Given the description of an element on the screen output the (x, y) to click on. 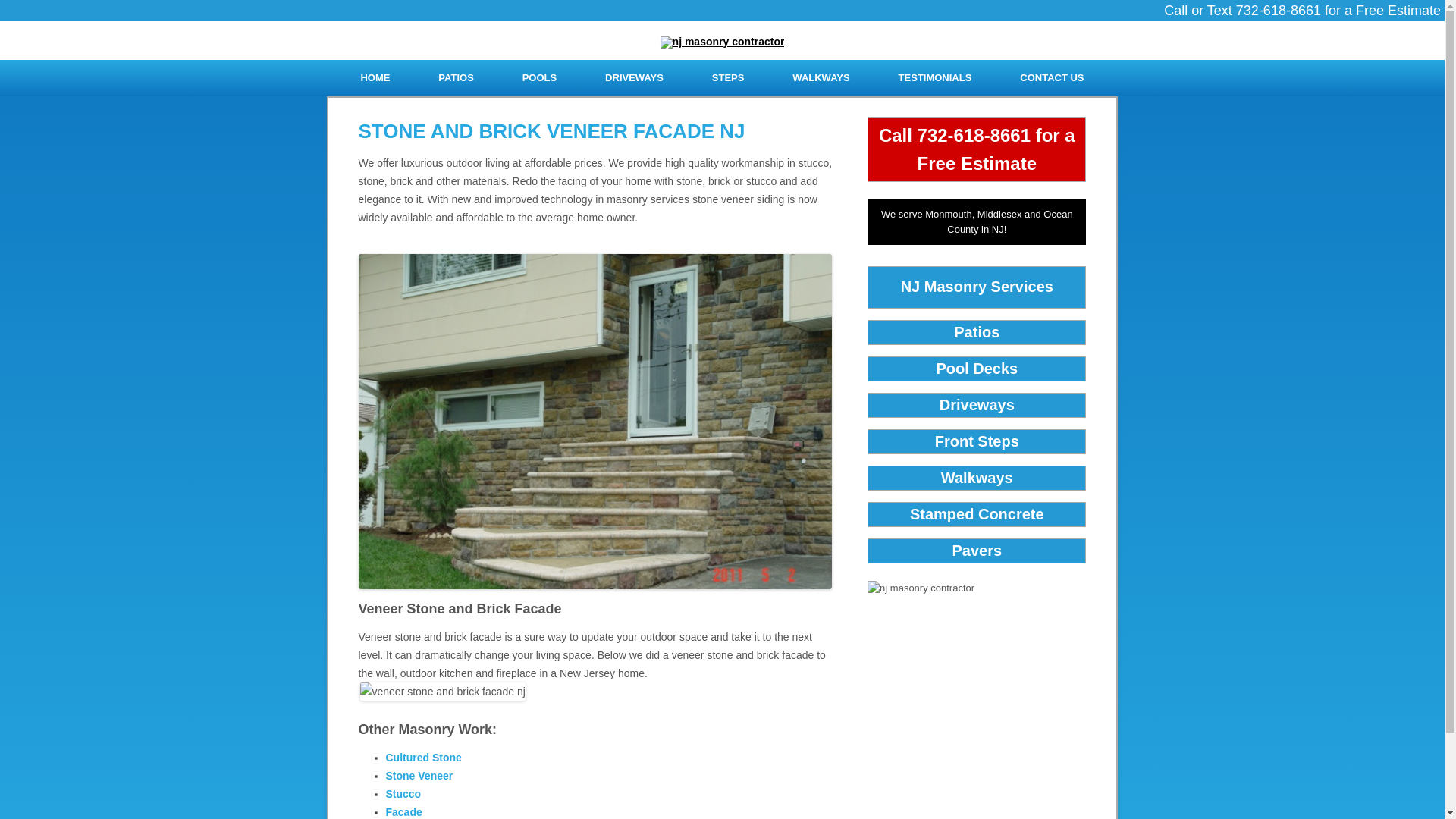
Pavers (976, 550)
STEPS (727, 77)
pool decks nj (976, 368)
Stamped Concrete (976, 514)
front steps nj (976, 441)
Driveways (634, 77)
patios nj (975, 331)
Paradise Stone and Tile (1051, 77)
Pools (539, 77)
Steps (727, 77)
Patios (455, 77)
Skip to content (759, 64)
new jersey masonry contractor (722, 42)
Patios (975, 331)
New Jersey Masonry Contractor (722, 41)
